Given the description of an element on the screen output the (x, y) to click on. 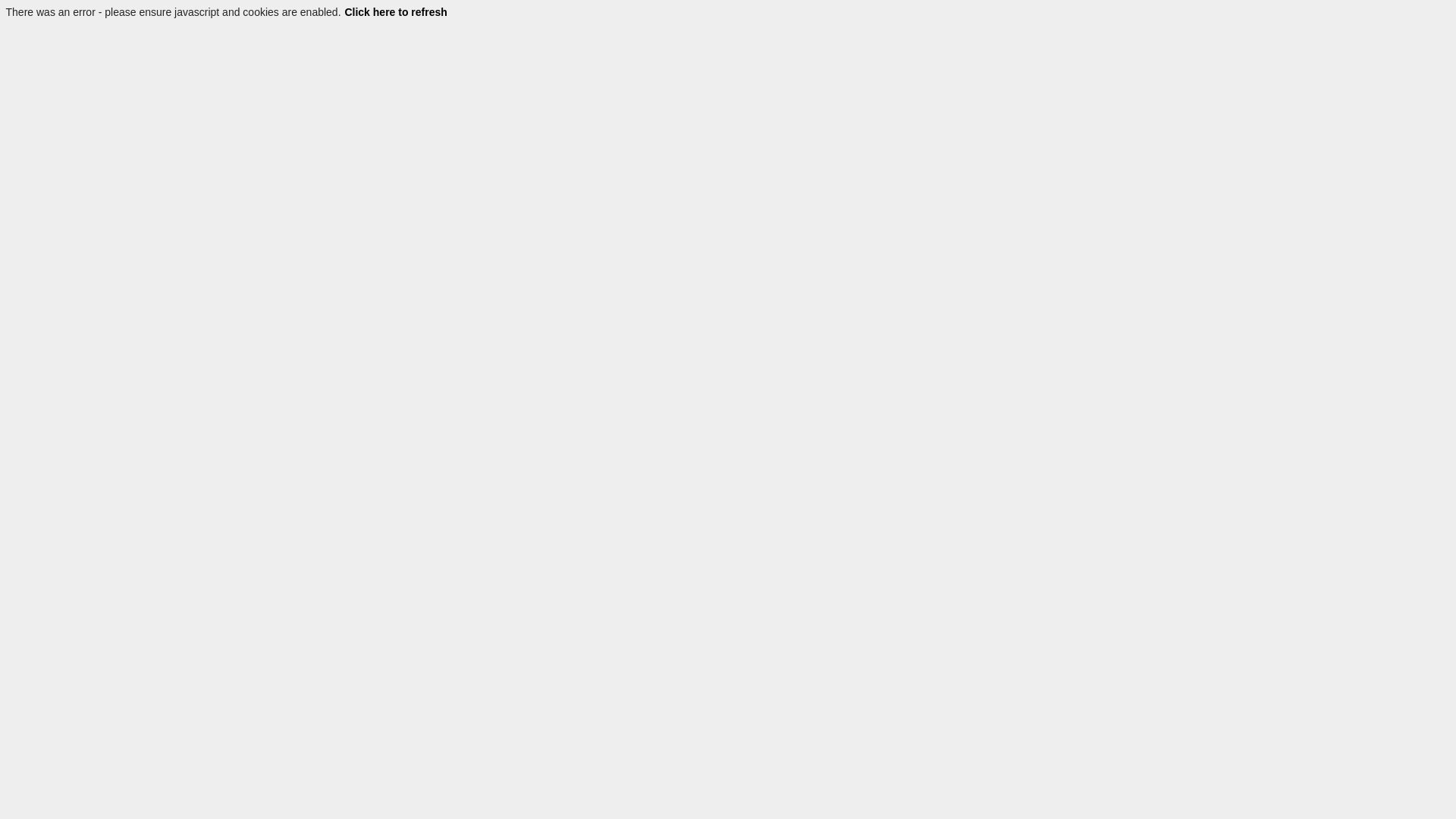
Click here to refresh Element type: text (395, 12)
